Given the description of an element on the screen output the (x, y) to click on. 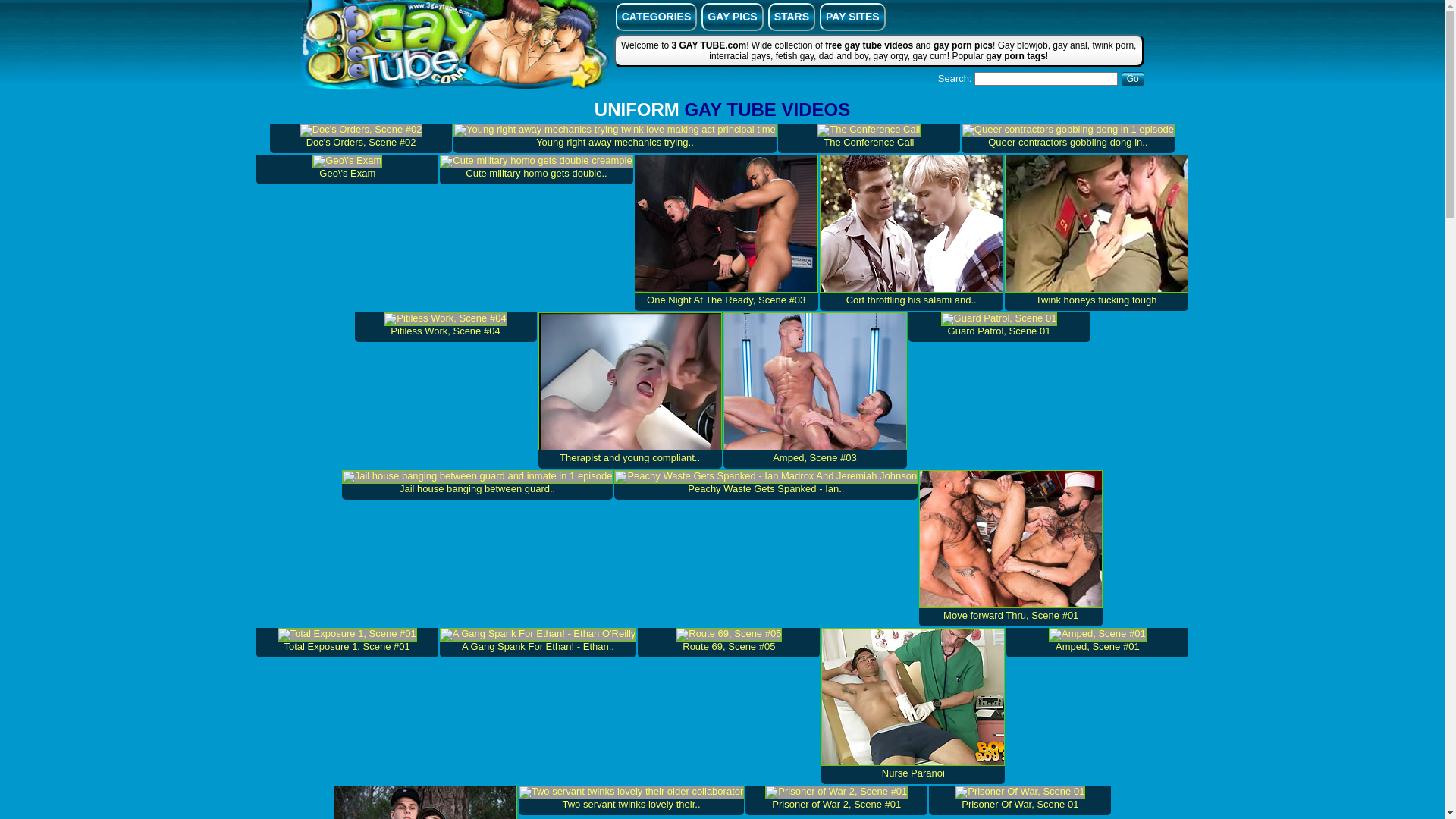
Geo\'s Exam Element type: text (347, 169)
Jail house banging between guard.. Element type: text (477, 484)
Total Exposure 1, Scene #01 Element type: text (347, 642)
Queer contractors gobbling dong in.. Element type: text (1067, 138)
Twink honeys fucking tough Element type: text (1096, 232)
Move forward Thru, Scene #01 Element type: text (1010, 548)
Amped, Scene #03 Element type: text (814, 390)
Cort throttling his salami and.. Element type: text (911, 232)
Amped, Scene #01 Element type: text (1097, 642)
Guard Patrol, Scene 01 Element type: text (999, 327)
Doc's Orders, Scene #02 Element type: text (360, 138)
Pitiless Work, Scene #04 Element type: text (445, 327)
A Gang Spank For Ethan! - Ethan.. Element type: text (538, 642)
Route 69, Scene #05 Element type: text (728, 642)
Cute military homo gets double.. Element type: text (535, 169)
STARS Element type: text (791, 17)
Two servant twinks lovely their.. Element type: text (631, 800)
PAY SITES Element type: text (852, 17)
Peachy Waste Gets Spanked - Ian.. Element type: text (765, 484)
GAY PICS Element type: text (731, 17)
Young right away mechanics trying.. Element type: text (614, 138)
Therapist and young compliant.. Element type: text (629, 390)
The Conference Call Element type: text (869, 138)
Go Element type: text (1132, 78)
Nurse Paranoi Element type: text (912, 705)
CATEGORIES Element type: text (656, 17)
One Night At The Ready, Scene #03 Element type: text (726, 232)
Prisoner of War 2, Scene #01 Element type: text (836, 800)
Free Gay Tube Element type: hover (454, 47)
Prisoner Of War, Scene 01 Element type: text (1019, 800)
